Given the description of an element on the screen output the (x, y) to click on. 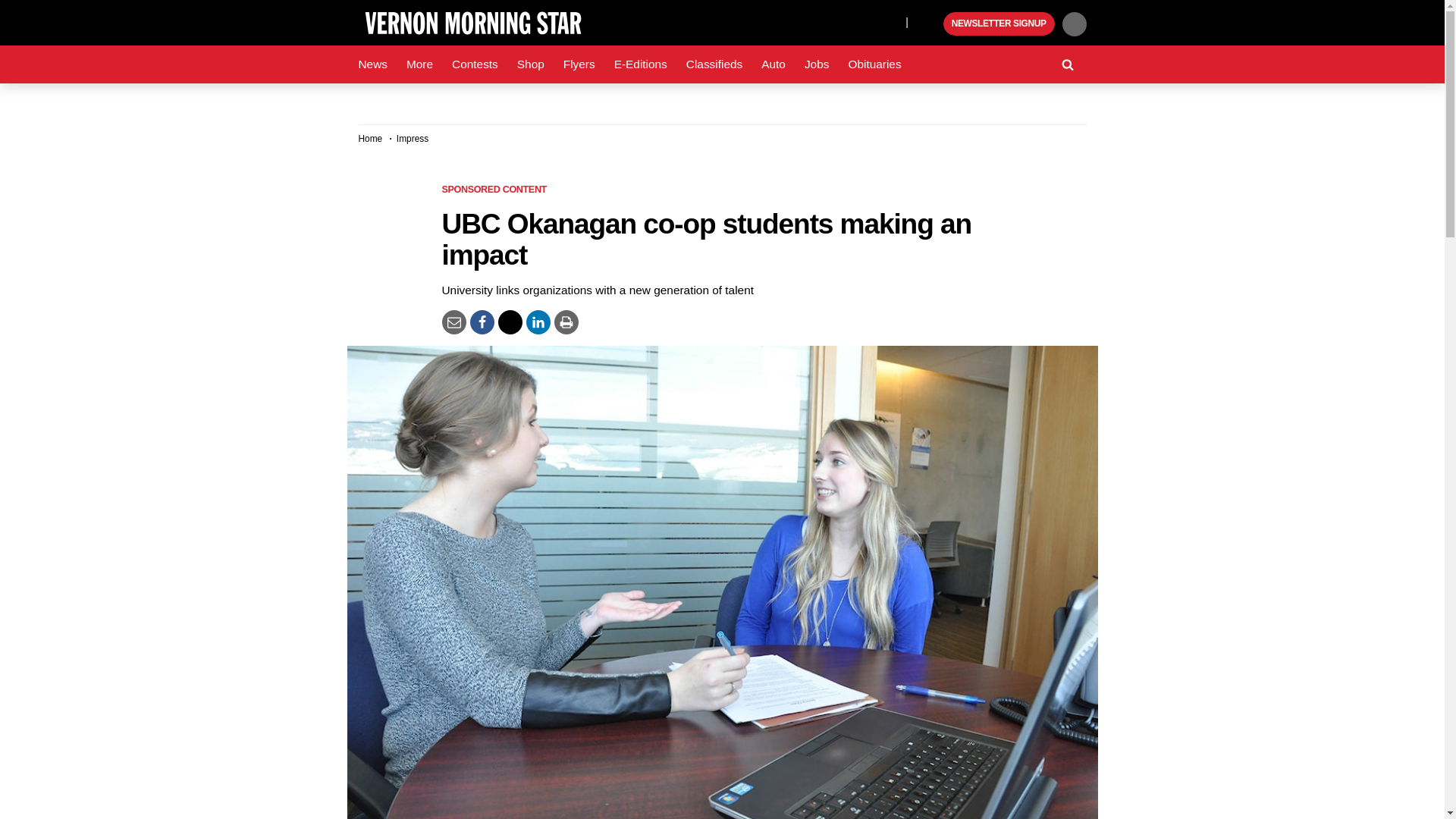
Play (929, 24)
NEWSLETTER SIGNUP (998, 24)
News (372, 64)
Black Press Media (929, 24)
X (889, 21)
